Given the description of an element on the screen output the (x, y) to click on. 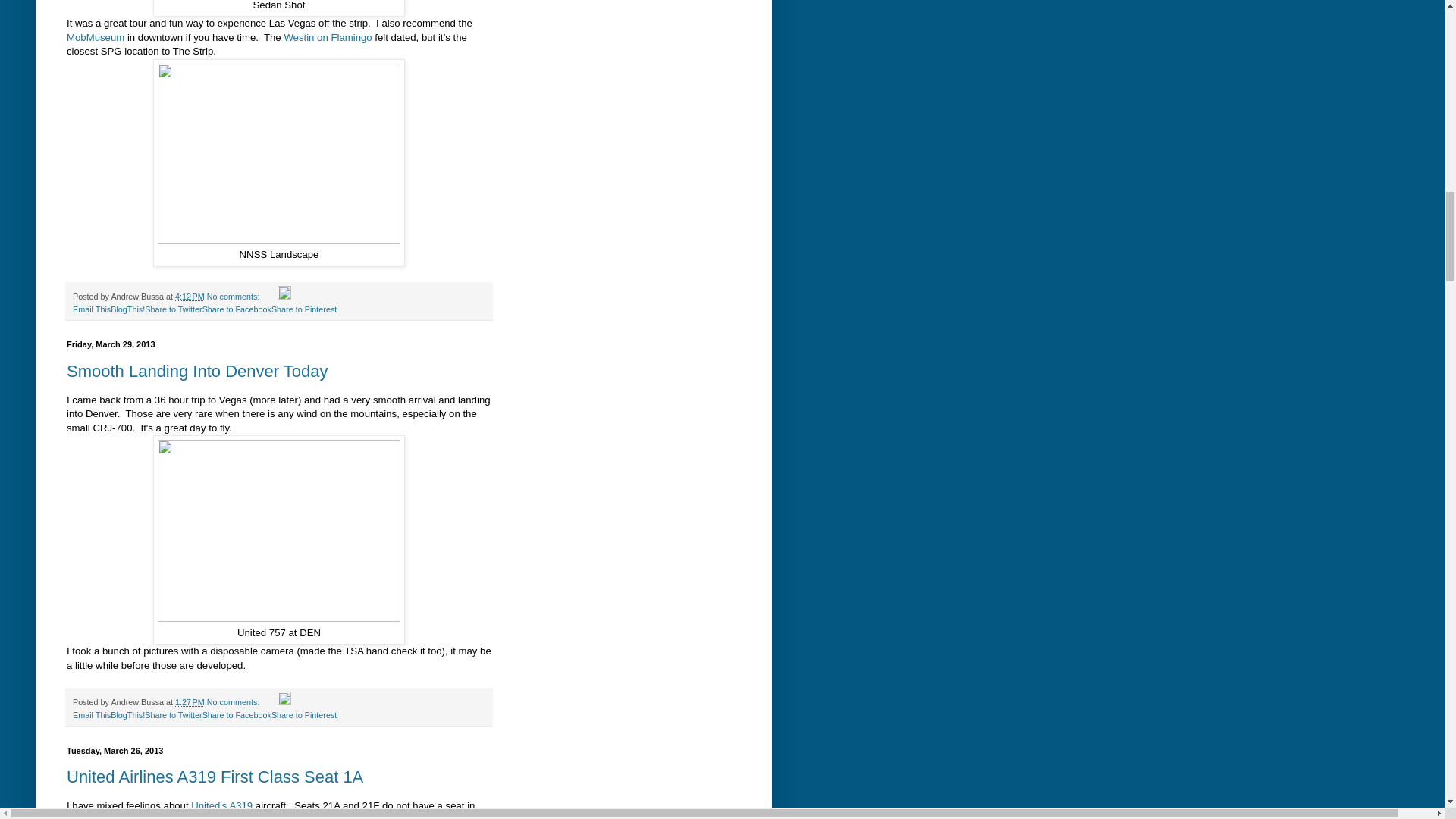
MobMuseum (94, 37)
BlogThis! (127, 714)
Share to Twitter (173, 714)
United's A319 (220, 805)
No comments: (234, 296)
Email This (91, 714)
Westin on Flamingo (327, 37)
BlogThis! (127, 308)
Email Post (270, 701)
No comments: (234, 701)
BlogThis! (127, 714)
Email Post (270, 296)
Share to Facebook (236, 308)
Edit Post (284, 701)
